Given the description of an element on the screen output the (x, y) to click on. 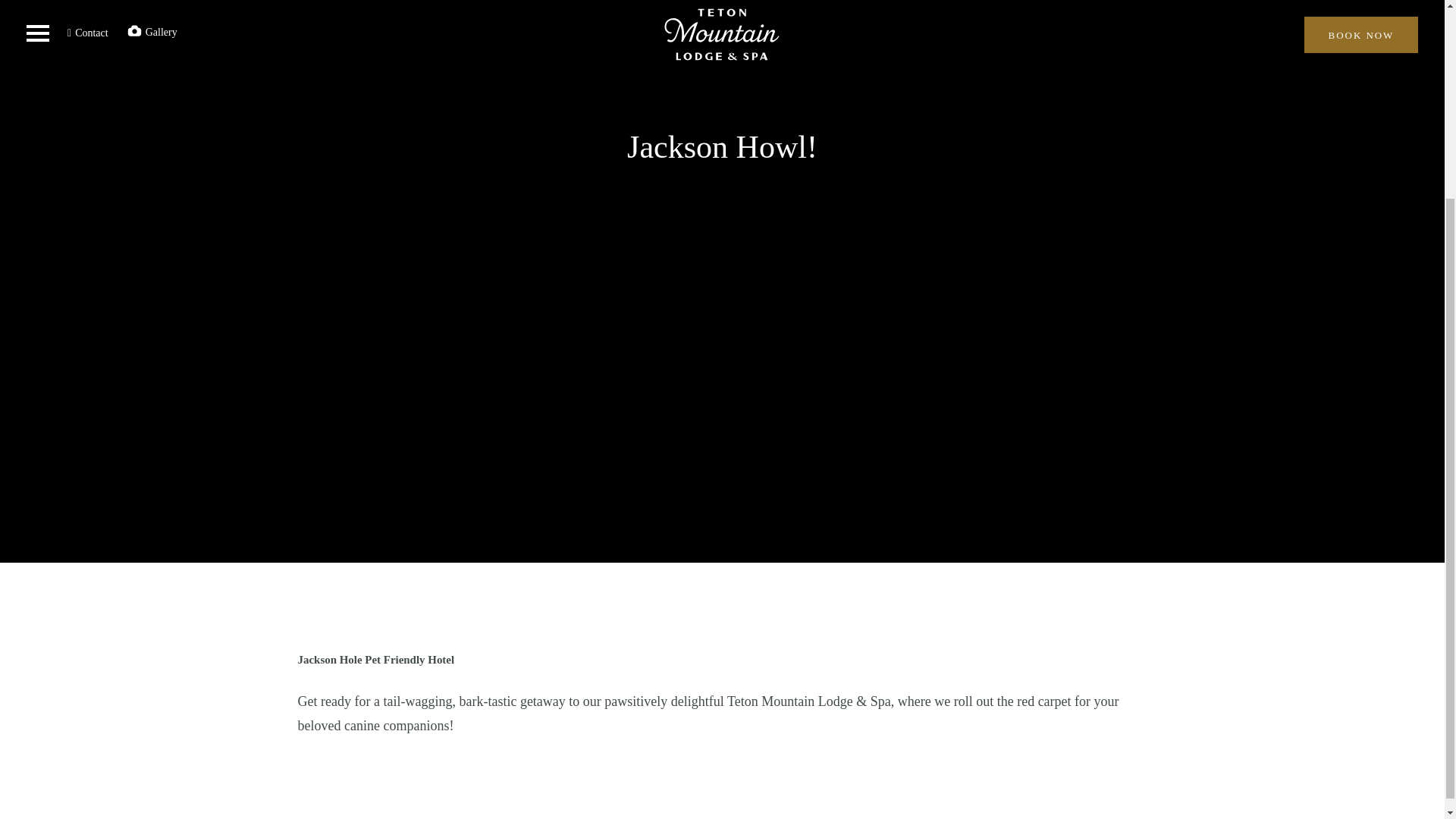
City. (774, 300)
Flower. (1036, 299)
Gem. (884, 300)
Skier (687, 300)
Sandals. (479, 300)
Wine. (587, 300)
